Given the description of an element on the screen output the (x, y) to click on. 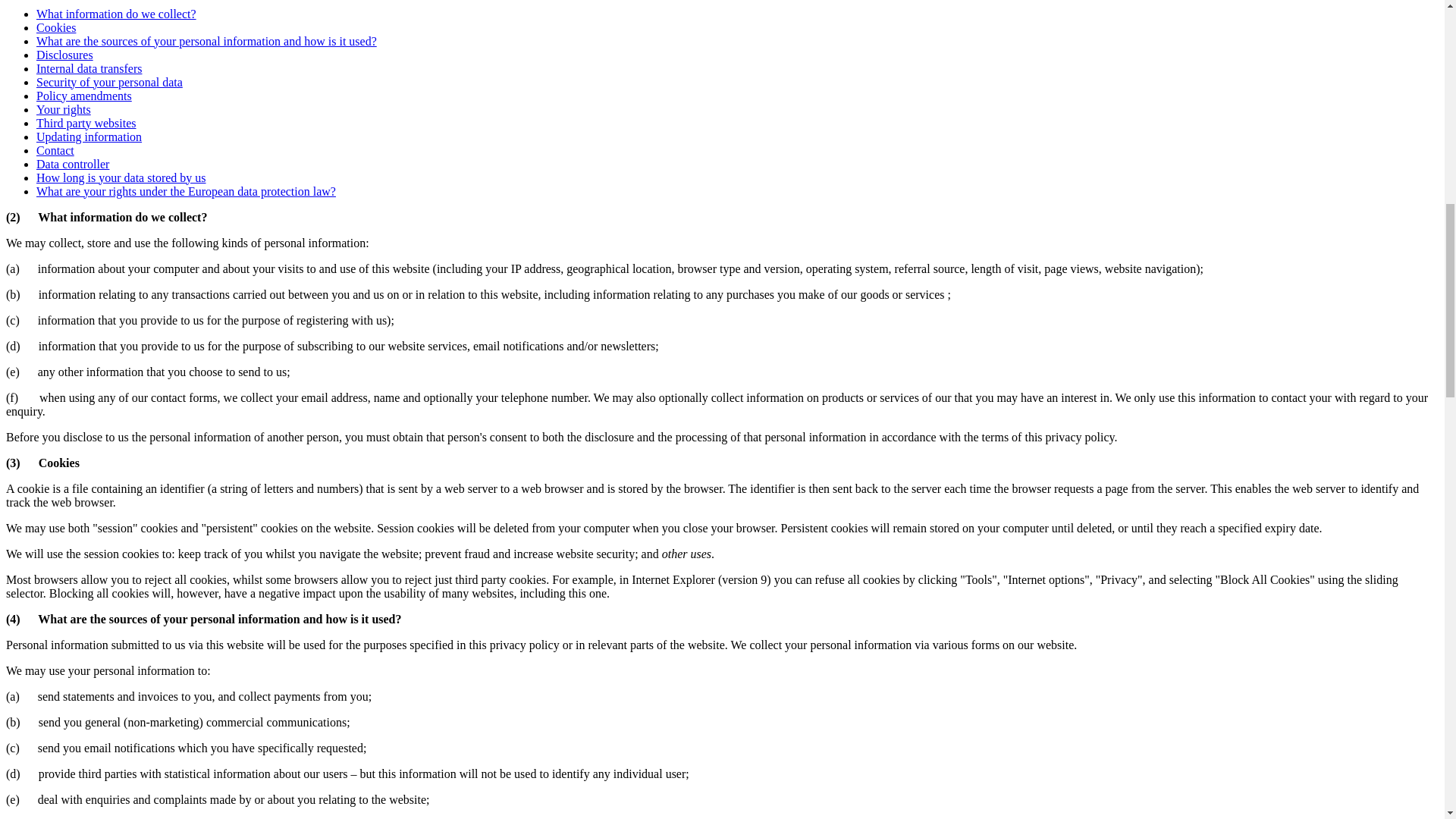
Contact (55, 150)
Disclosures (64, 54)
Third party websites (86, 123)
Internal data transfers (88, 68)
Cookies (55, 27)
What information do we collect? (116, 13)
Security of your personal data (109, 82)
What are your rights under the European data protection law? (186, 191)
Your rights (63, 109)
Policy amendments (84, 95)
Data controller (72, 164)
How long is your data stored by us (121, 177)
Updating information (88, 136)
